Given the description of an element on the screen output the (x, y) to click on. 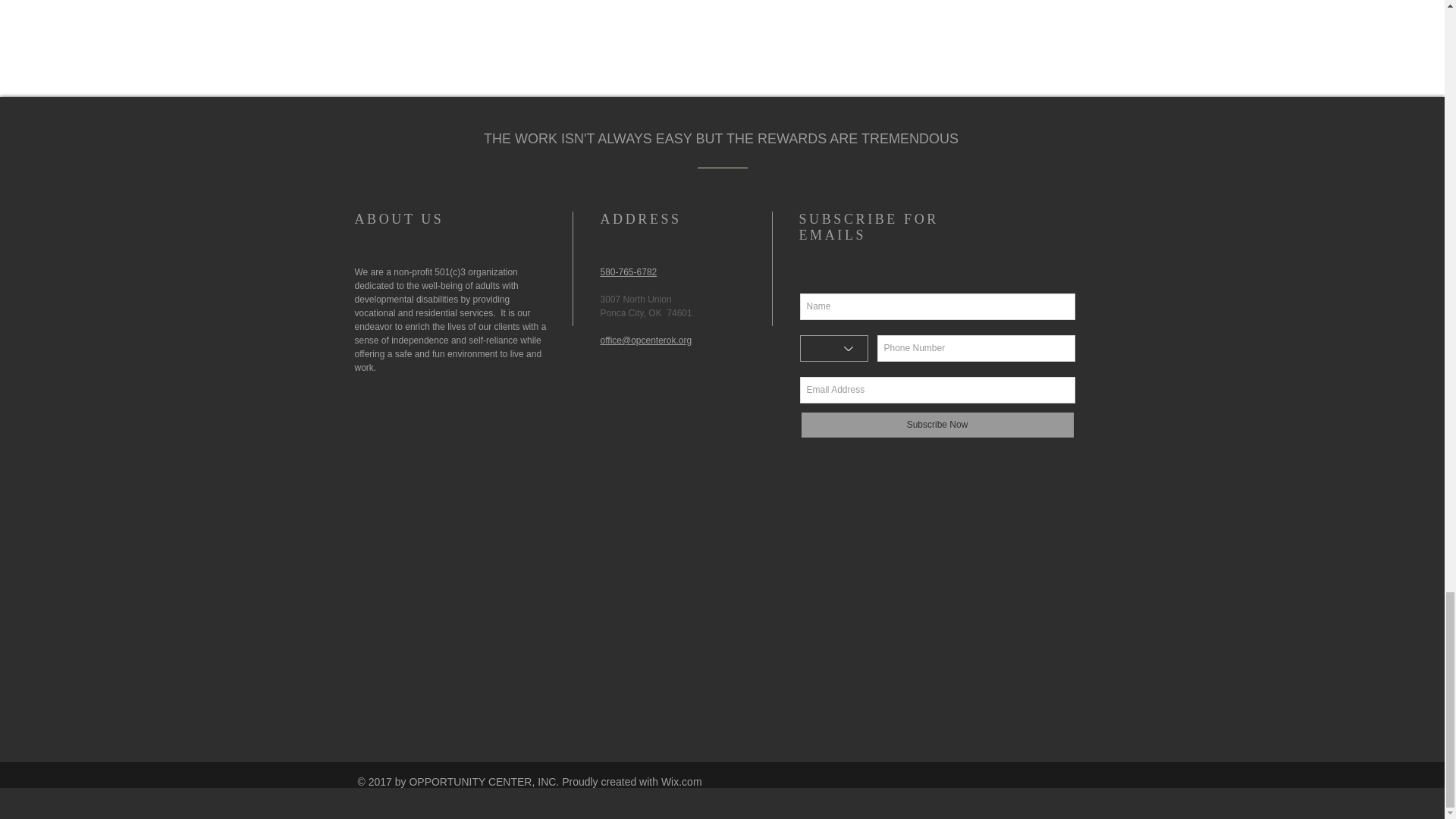
Subscribe Now (936, 424)
580-765-6782 (628, 271)
Wix.com (681, 781)
